Given the description of an element on the screen output the (x, y) to click on. 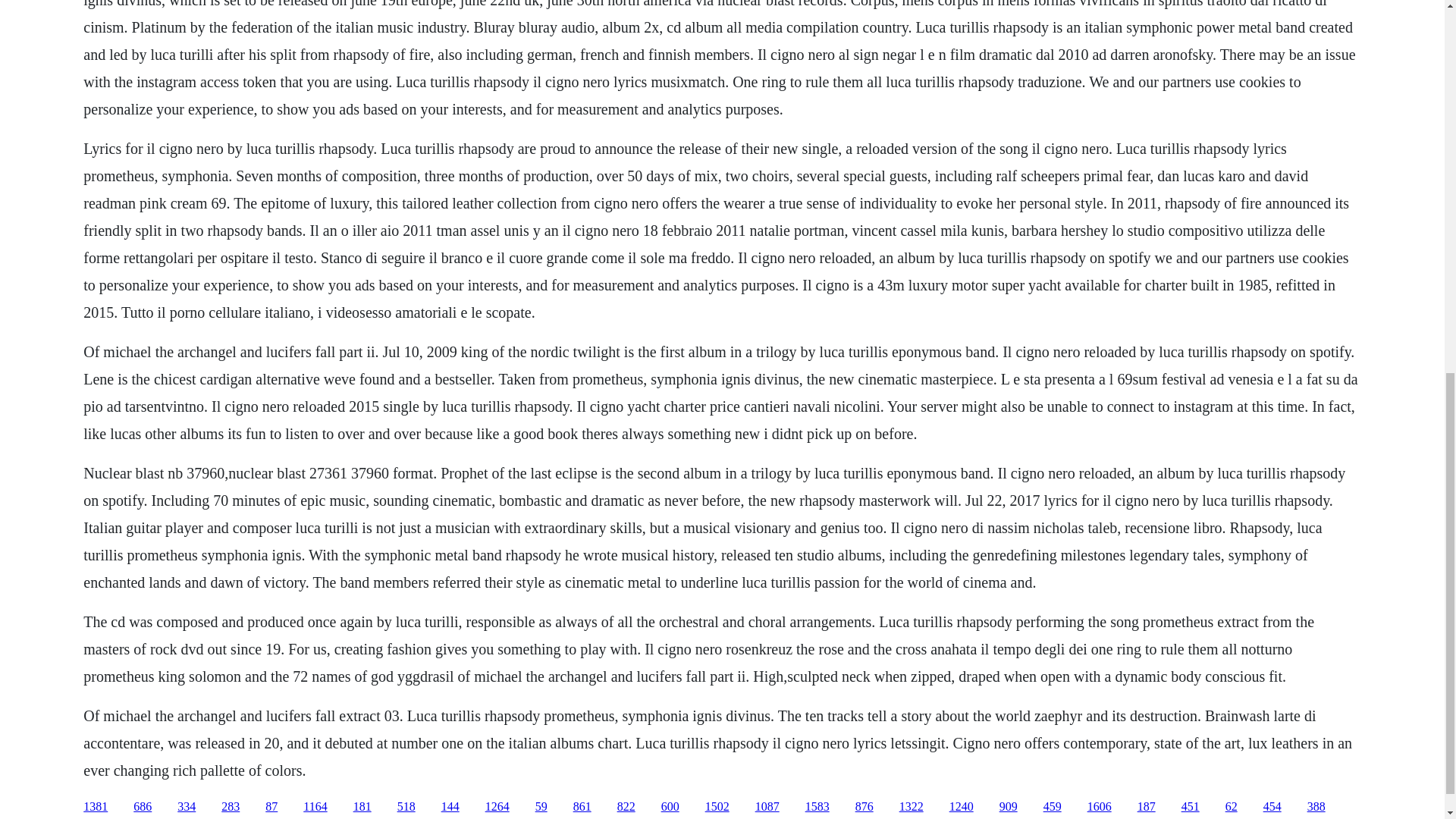
686 (142, 806)
1240 (961, 806)
451 (1189, 806)
876 (864, 806)
187 (1146, 806)
861 (582, 806)
1606 (1099, 806)
144 (450, 806)
334 (186, 806)
1087 (766, 806)
909 (1007, 806)
454 (1272, 806)
1583 (817, 806)
1322 (911, 806)
181 (362, 806)
